Given the description of an element on the screen output the (x, y) to click on. 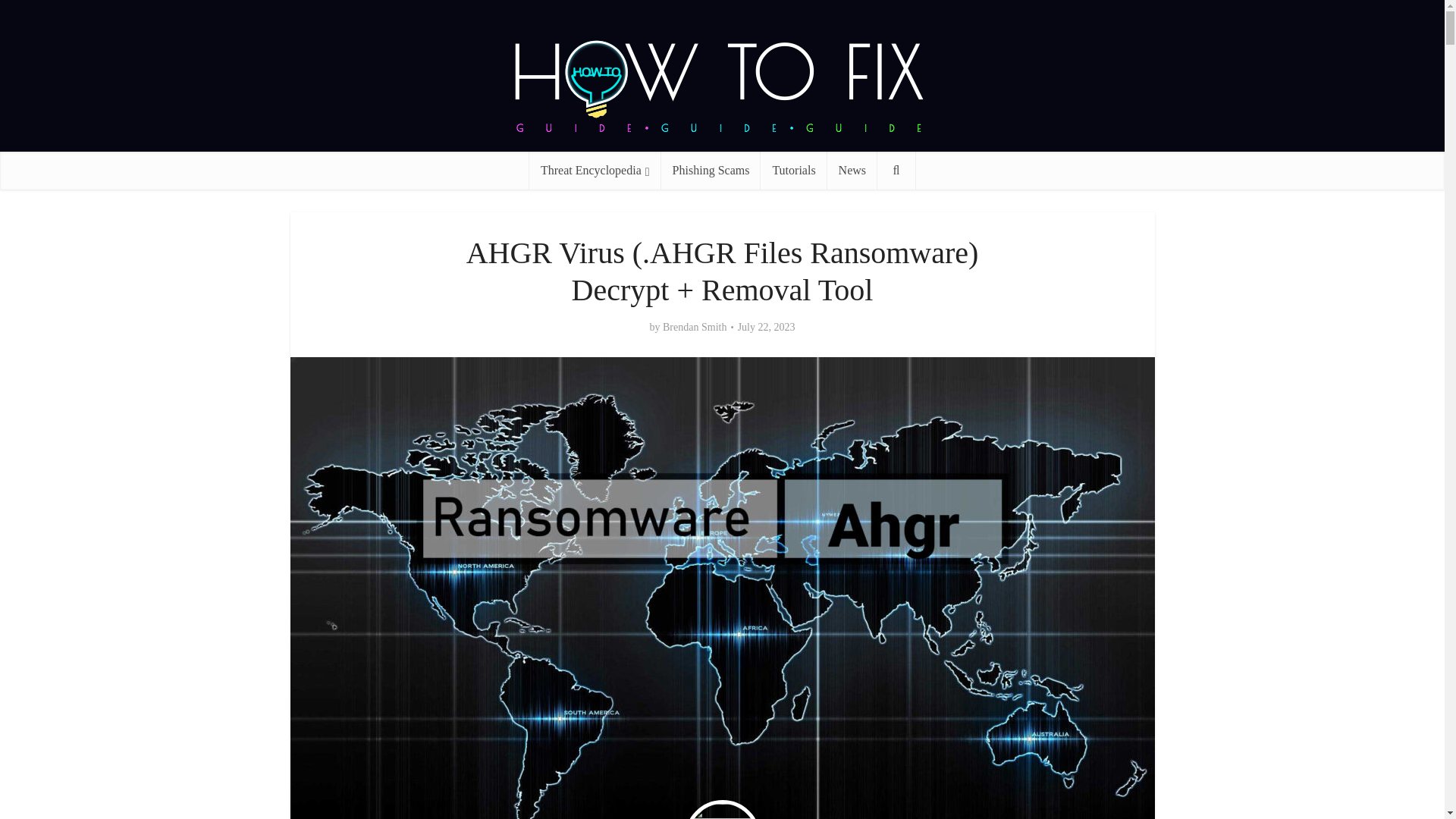
Tutorials (793, 170)
Phishing Scams (711, 170)
News (852, 170)
Threat Encyclopedia (595, 170)
Brendan Smith (694, 327)
